Given the description of an element on the screen output the (x, y) to click on. 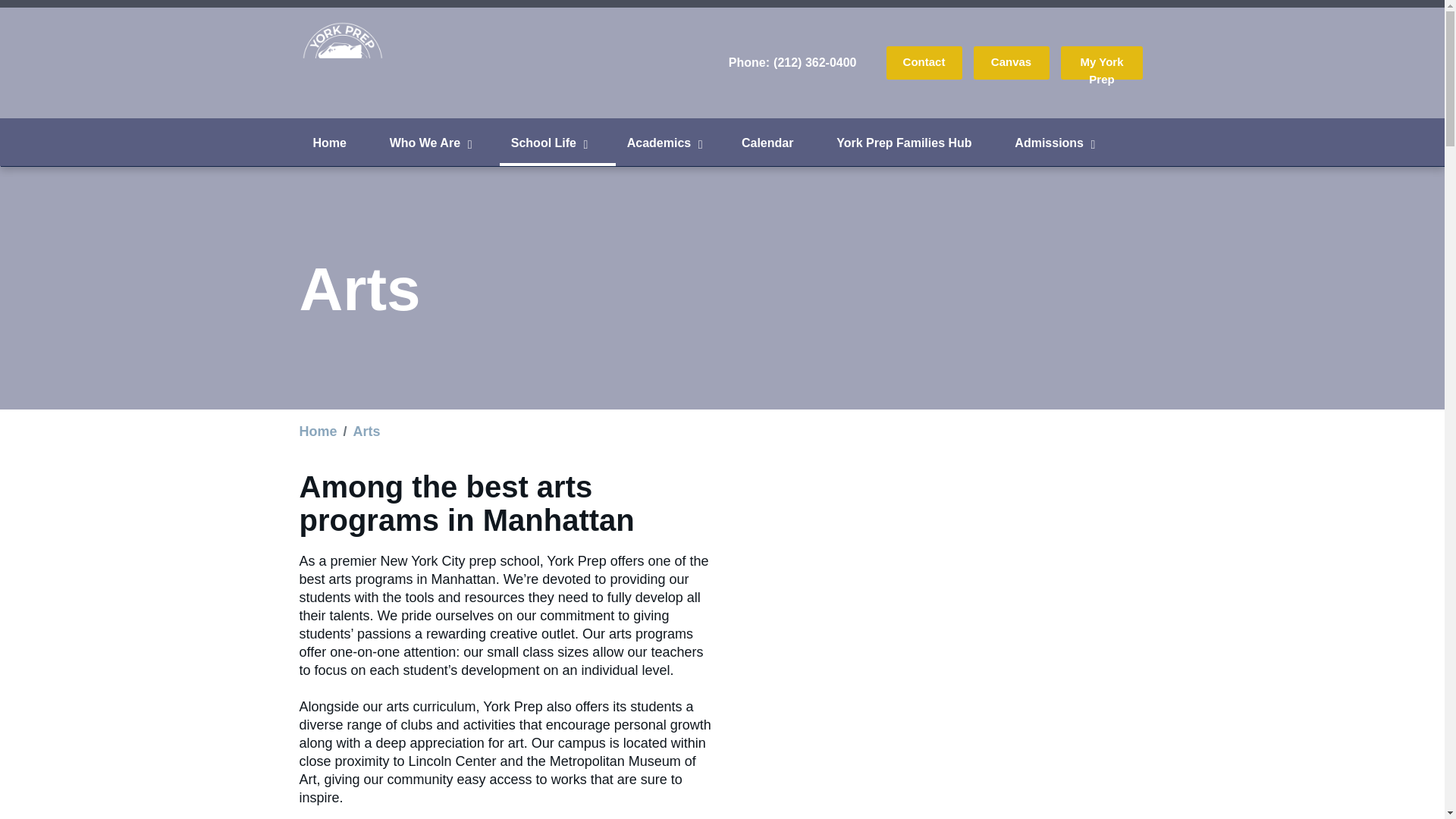
Canvas (1010, 62)
My York Prep (1101, 62)
York Prep Families Hub (914, 145)
Contact (924, 62)
Admissions (1062, 145)
Who We Are (438, 145)
Home (317, 431)
Academics (672, 145)
Home (339, 145)
Return Home (342, 61)
Calendar (777, 145)
School Life (557, 145)
